Given the description of an element on the screen output the (x, y) to click on. 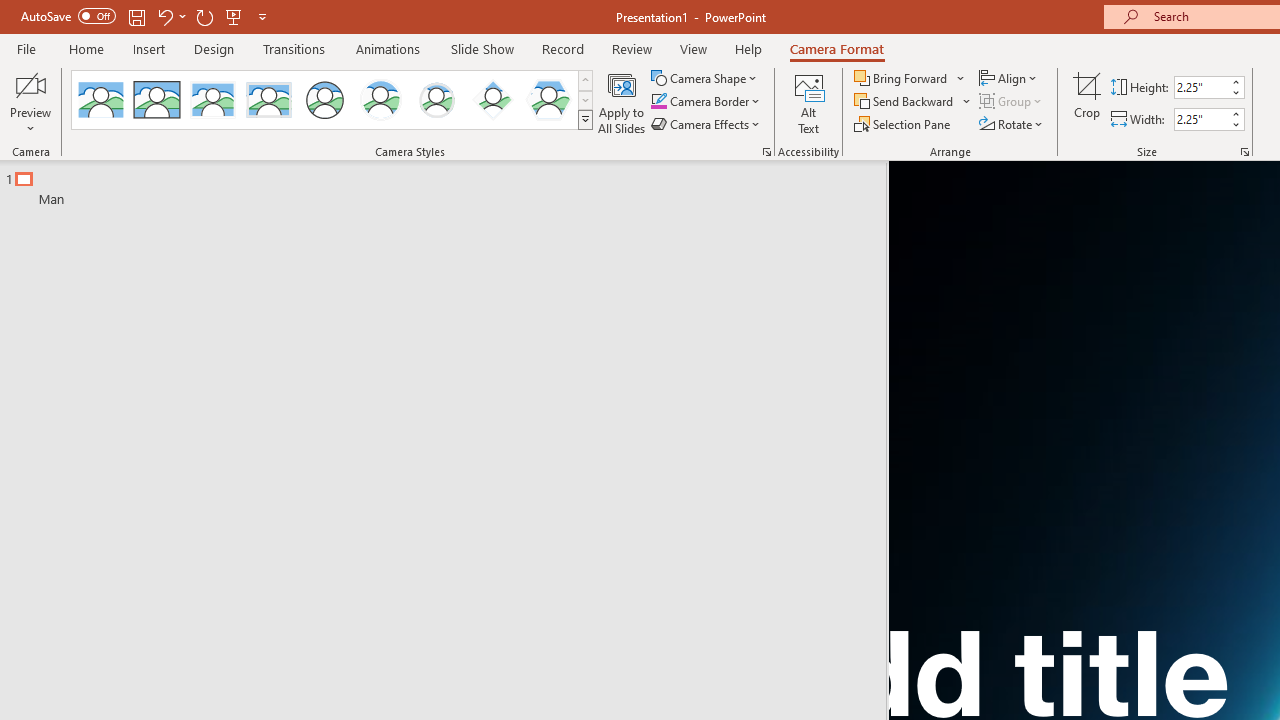
Soft Edge Circle (436, 100)
Camera Effects (706, 124)
AutomationID: CameoStylesGallery (333, 99)
Cameo Height (1201, 87)
Bring Forward (910, 78)
Enable Camera Preview (30, 84)
Bring Forward (902, 78)
Align (1009, 78)
Size and Position... (1244, 151)
Apply to All Slides (621, 102)
